Given the description of an element on the screen output the (x, y) to click on. 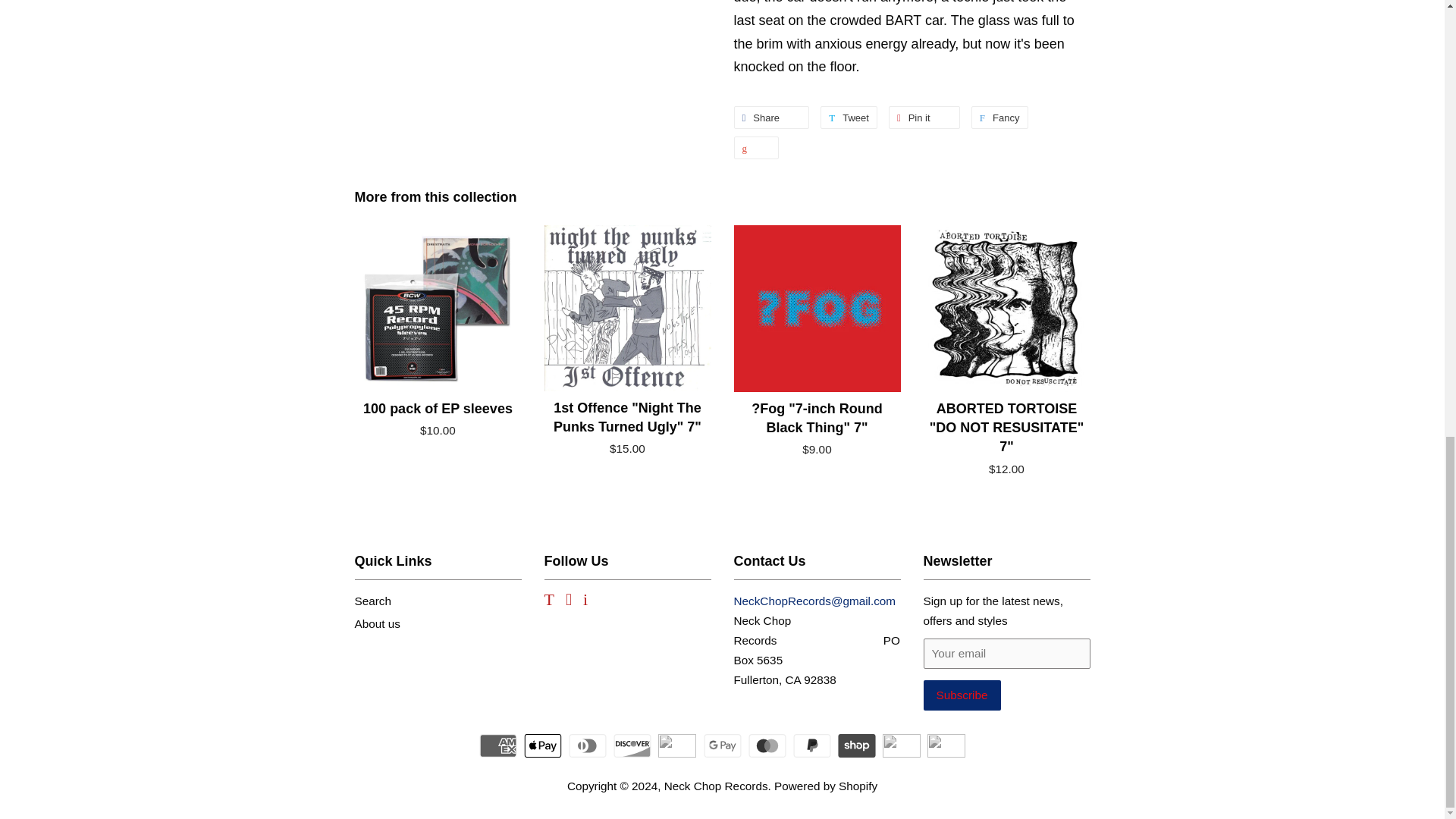
Add to Fancy (999, 117)
Share on Facebook (771, 117)
Tweet on Twitter (923, 117)
Pin on Pinterest (849, 117)
Subscribe (999, 117)
